Given the description of an element on the screen output the (x, y) to click on. 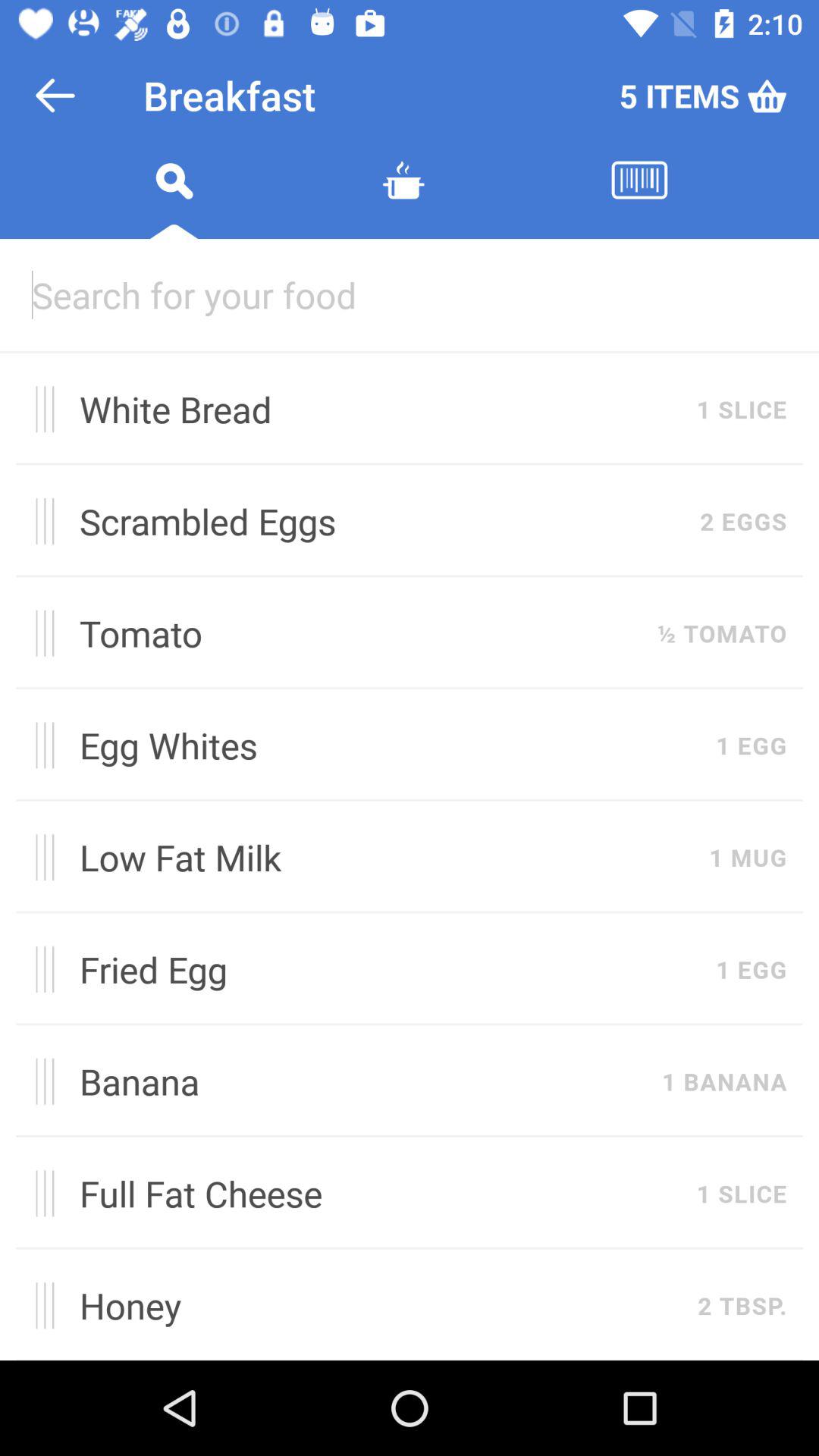
because back devicer (409, 294)
